Given the description of an element on the screen output the (x, y) to click on. 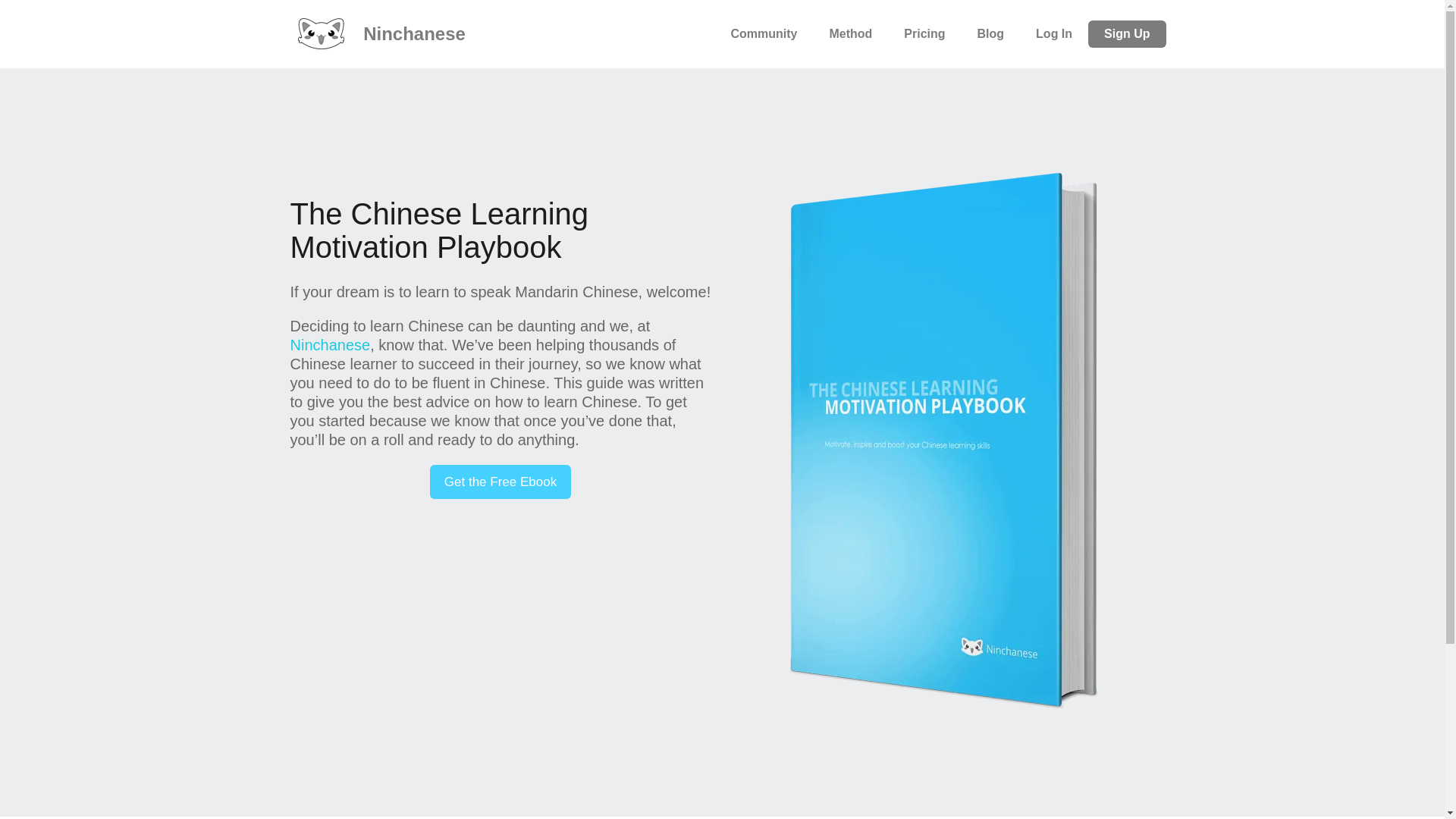
Method (850, 33)
Get the Free Ebook (499, 481)
Log In (1053, 33)
Ninchanese (329, 344)
Ninchanese (379, 33)
Sign Up (1126, 33)
Community (763, 33)
Pricing (924, 33)
Blog (990, 33)
